Given the description of an element on the screen output the (x, y) to click on. 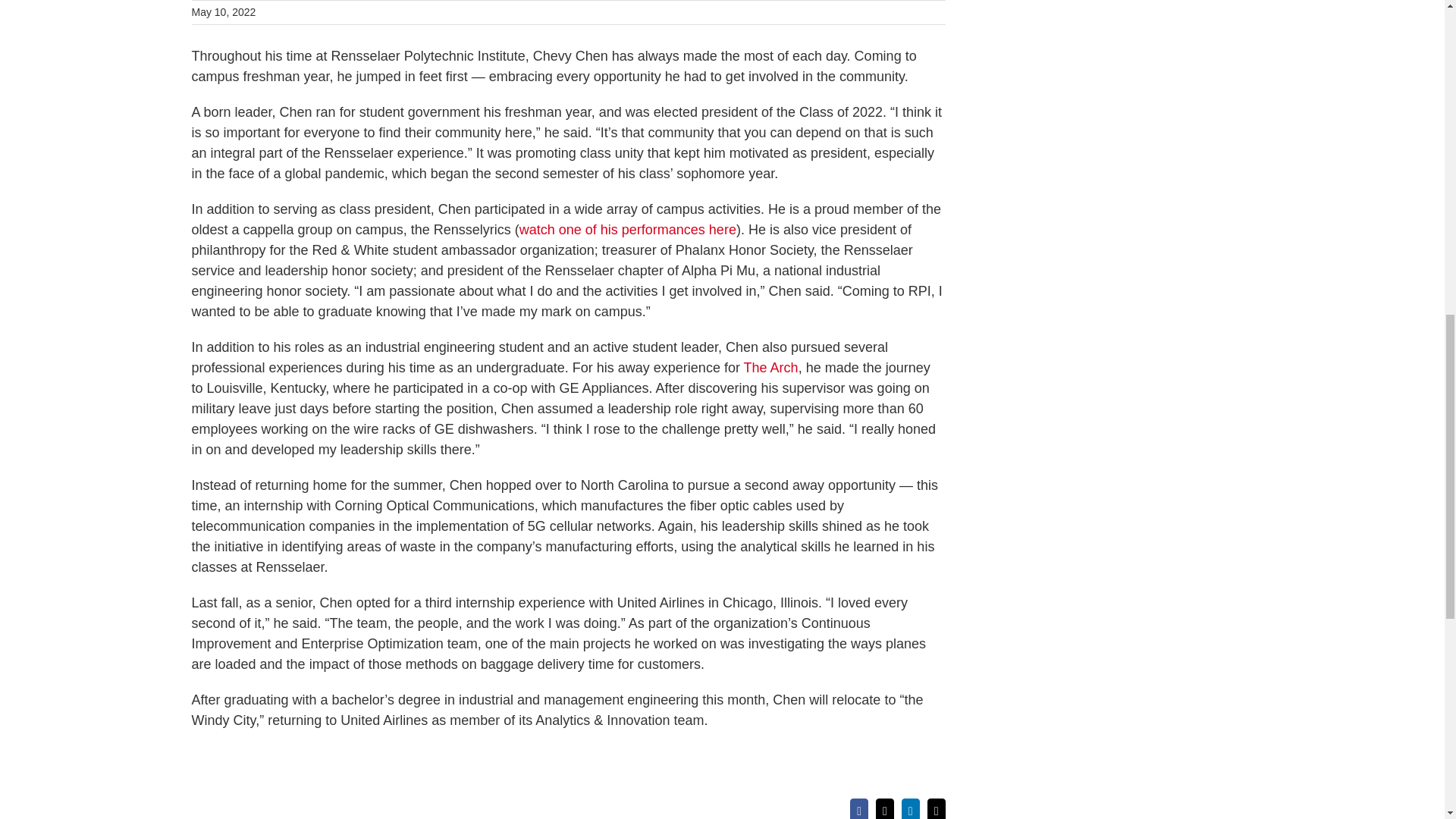
X (884, 808)
LinkedIn (910, 808)
Facebook (858, 808)
X (884, 808)
watch one of his performances here (627, 229)
LinkedIn (910, 808)
The Arch (770, 367)
Facebook (858, 808)
